Given the description of an element on the screen output the (x, y) to click on. 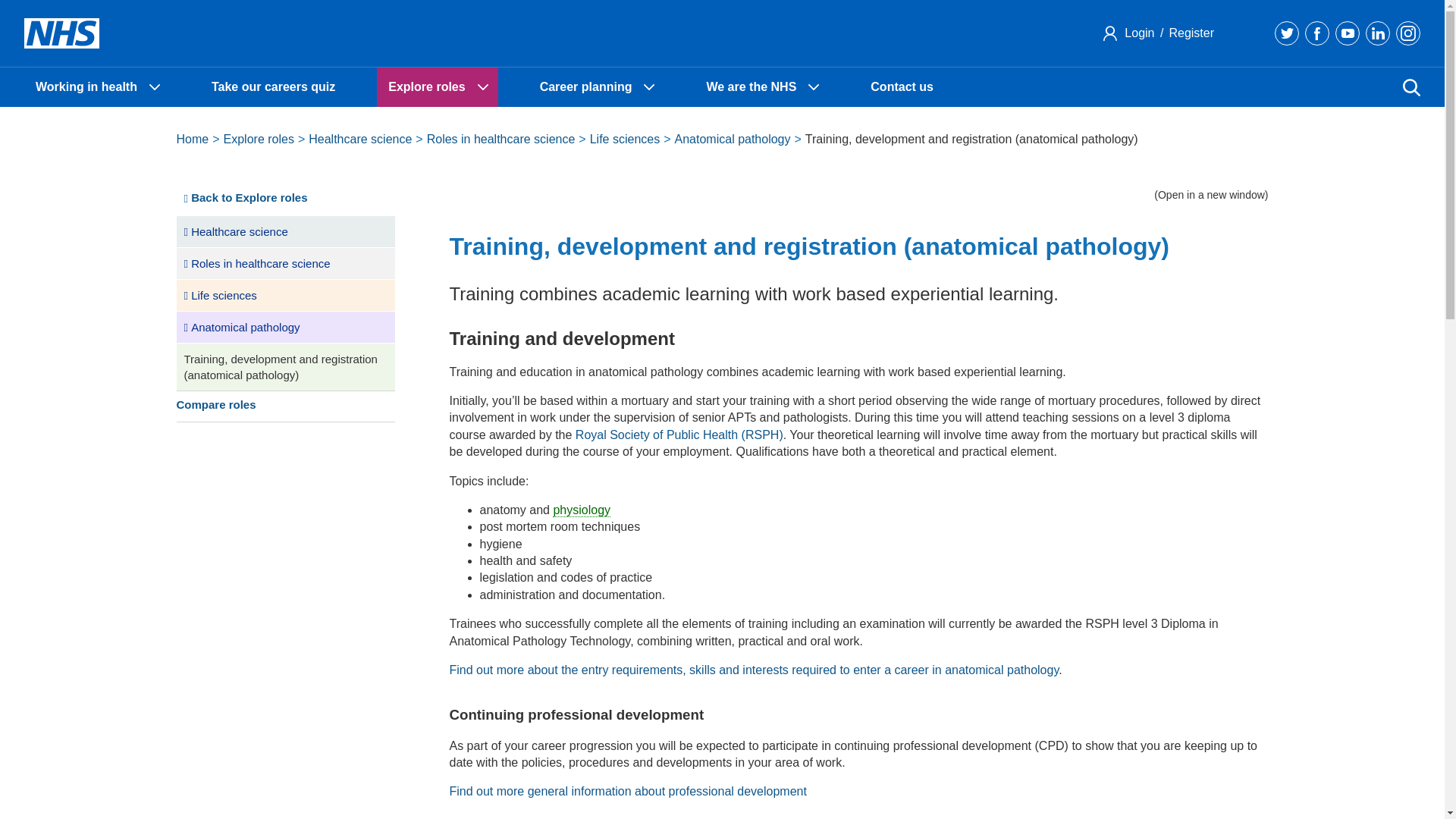
NHS Logo Home (61, 33)
Take our careers quiz (273, 87)
Find Health Careers on youtube (1347, 33)
Find your health careers by answering some simple questions (273, 87)
user icon (1109, 32)
Find Health Careers on twitter (1286, 33)
Working in health (97, 87)
Find Health Careers on instagram (1408, 33)
NHS logo. Return to home. (61, 33)
Find Health Careers on linkedin (1377, 33)
Find Health Careers on facebook (1316, 33)
Explore roles (437, 87)
Register (1188, 32)
